Given the description of an element on the screen output the (x, y) to click on. 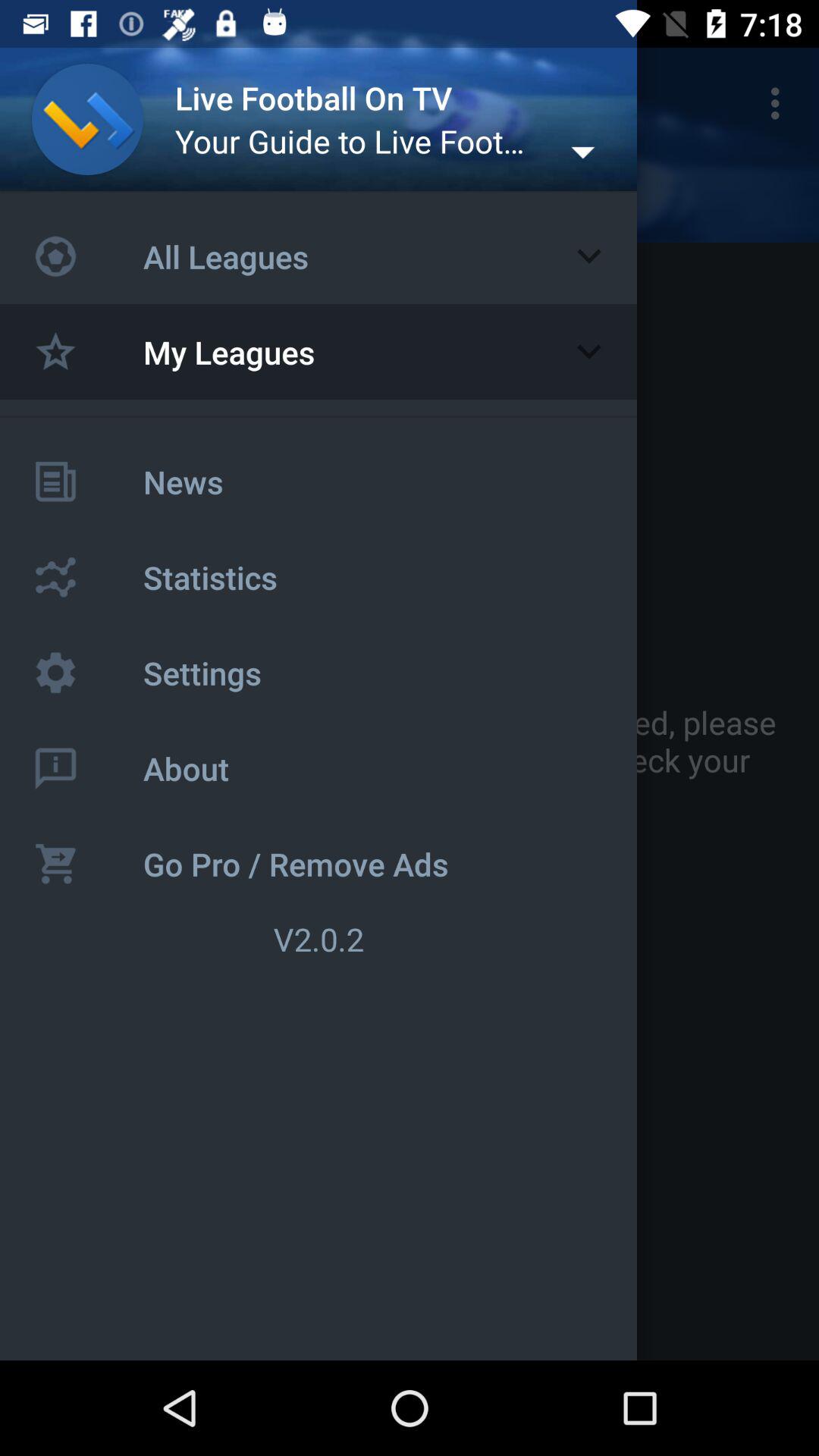
select icon above you do not (779, 103)
